Given the description of an element on the screen output the (x, y) to click on. 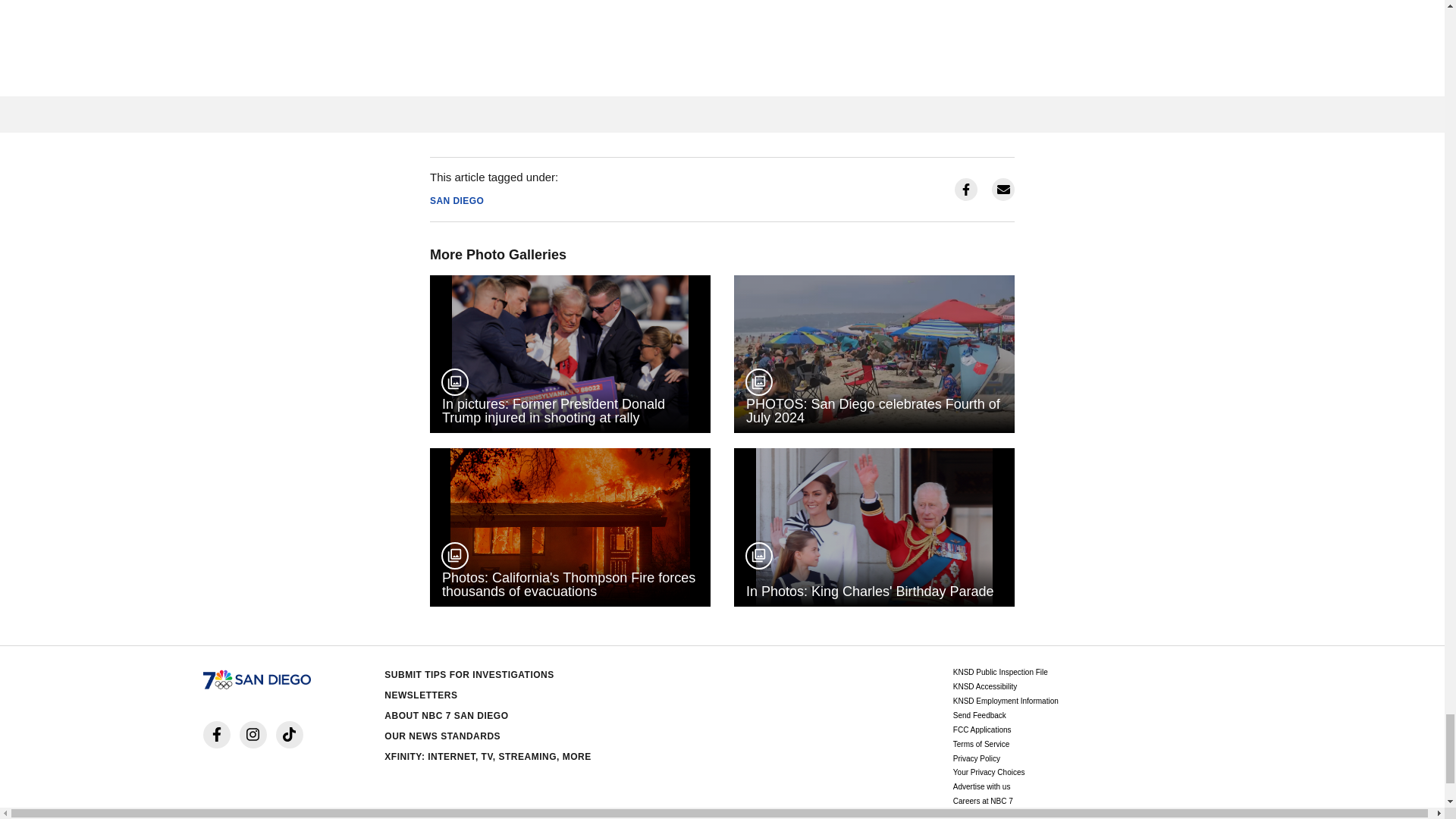
Facebook (216, 734)
SAN DIEGO (456, 200)
